Given the description of an element on the screen output the (x, y) to click on. 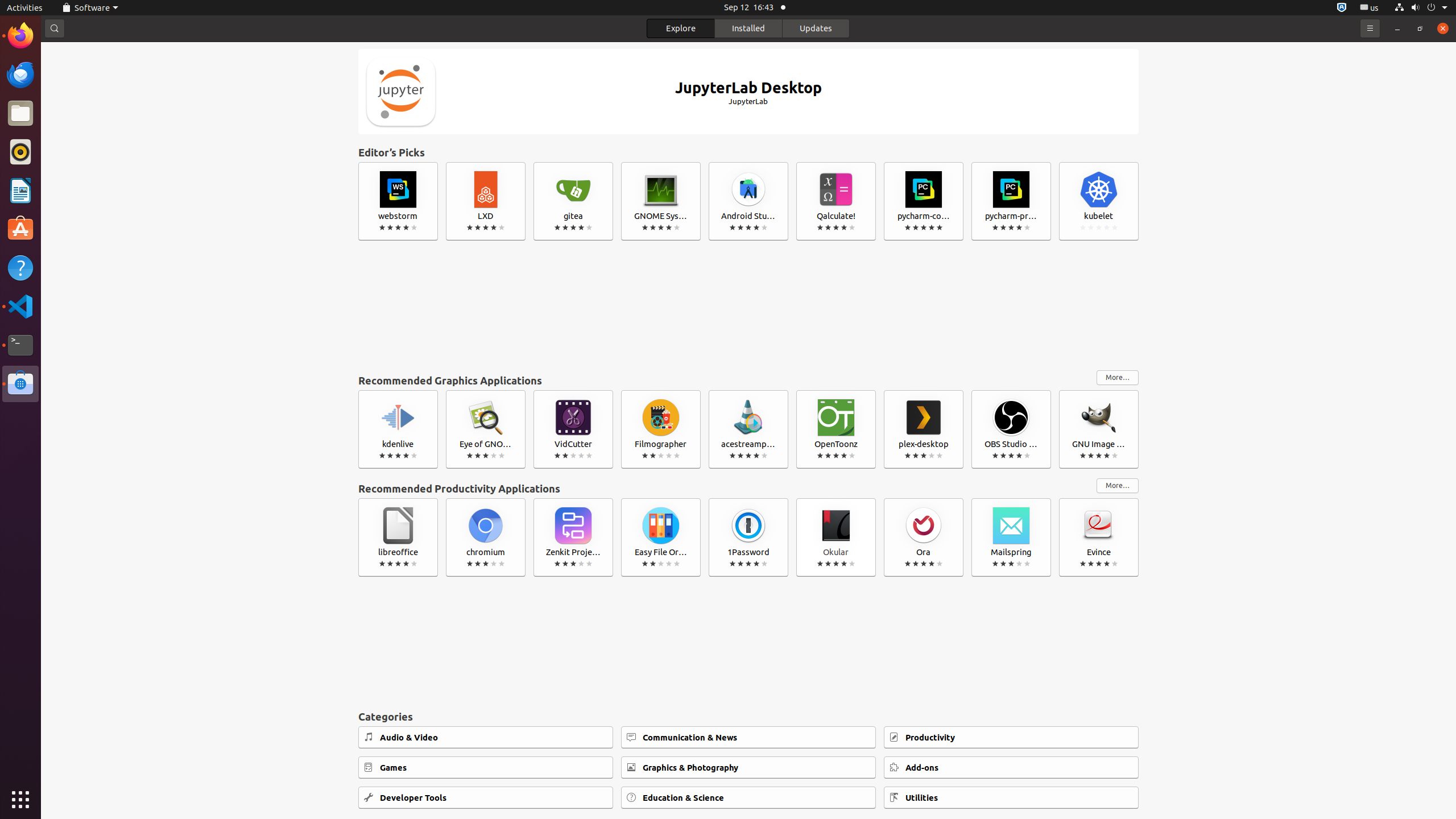
pycharm-professional Element type: push-button (1011, 201)
pycharm-community Element type: push-button (923, 201)
Trash Element type: label (75, 108)
Evince Element type: push-button (1098, 537)
